Given the description of an element on the screen output the (x, y) to click on. 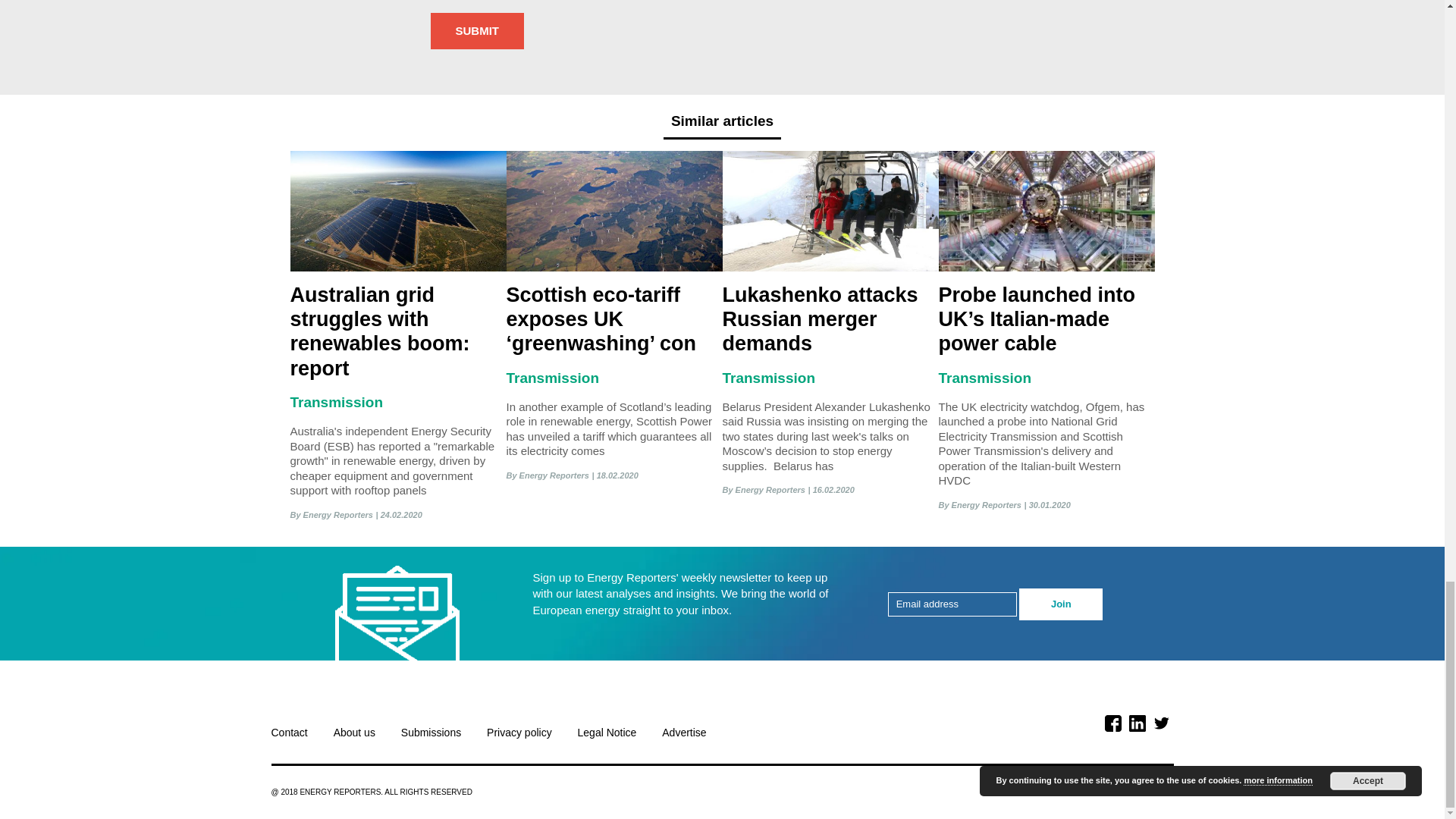
Submit (477, 31)
Join (1060, 603)
